Given the description of an element on the screen output the (x, y) to click on. 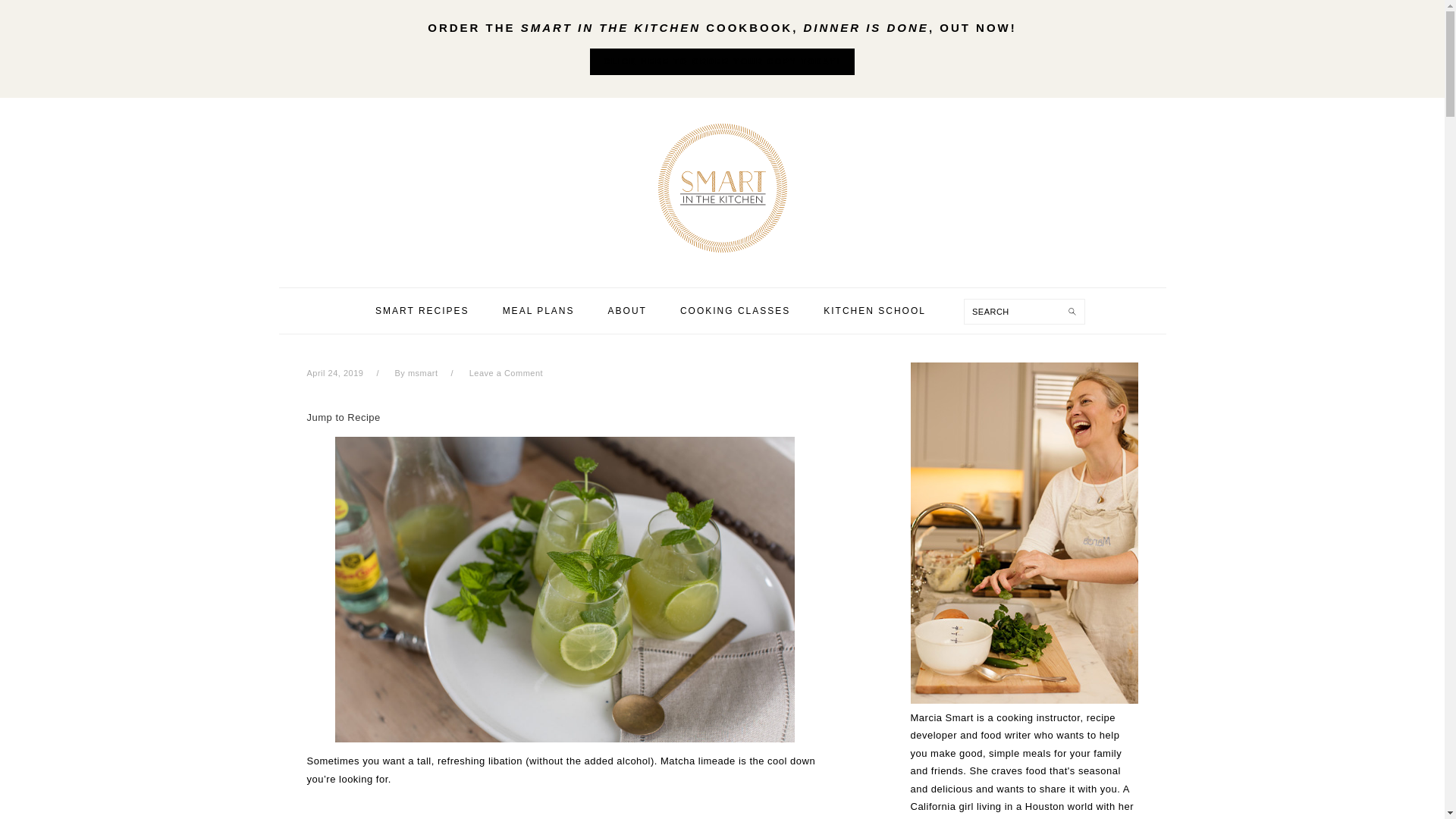
MEAL PLANS (538, 310)
KITCHEN SCHOOL (875, 310)
COOKING CLASSES (734, 310)
CLICK HERE TO ORDER YOUR COPY TODAY! (721, 60)
msmart (422, 372)
SMART RECIPES (421, 310)
ABOUT (627, 310)
CLICK HERE TO ORDER YOUR COPY TODAY! (721, 62)
SMART IN THE KITCHEN (721, 187)
Leave a Comment (505, 372)
Jump to Recipe (342, 417)
